Given the description of an element on the screen output the (x, y) to click on. 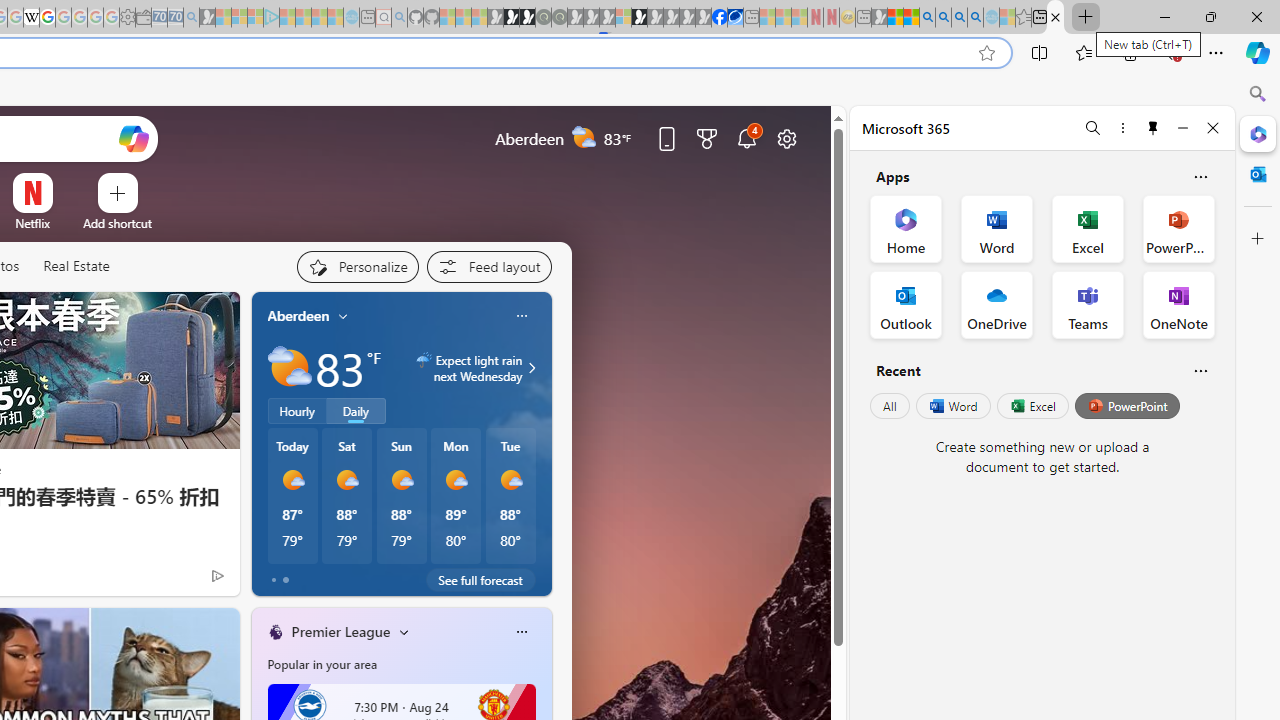
Excel Office App (1087, 228)
PowerPoint (1127, 406)
Close Microsoft 365 pane (1258, 133)
Premier League (340, 631)
Future Focus Report 2024 - Sleeping (559, 17)
Is this helpful? (1200, 370)
Play Zoo Boom in your browser | Games from Microsoft Start (511, 17)
My location (343, 315)
